Given the description of an element on the screen output the (x, y) to click on. 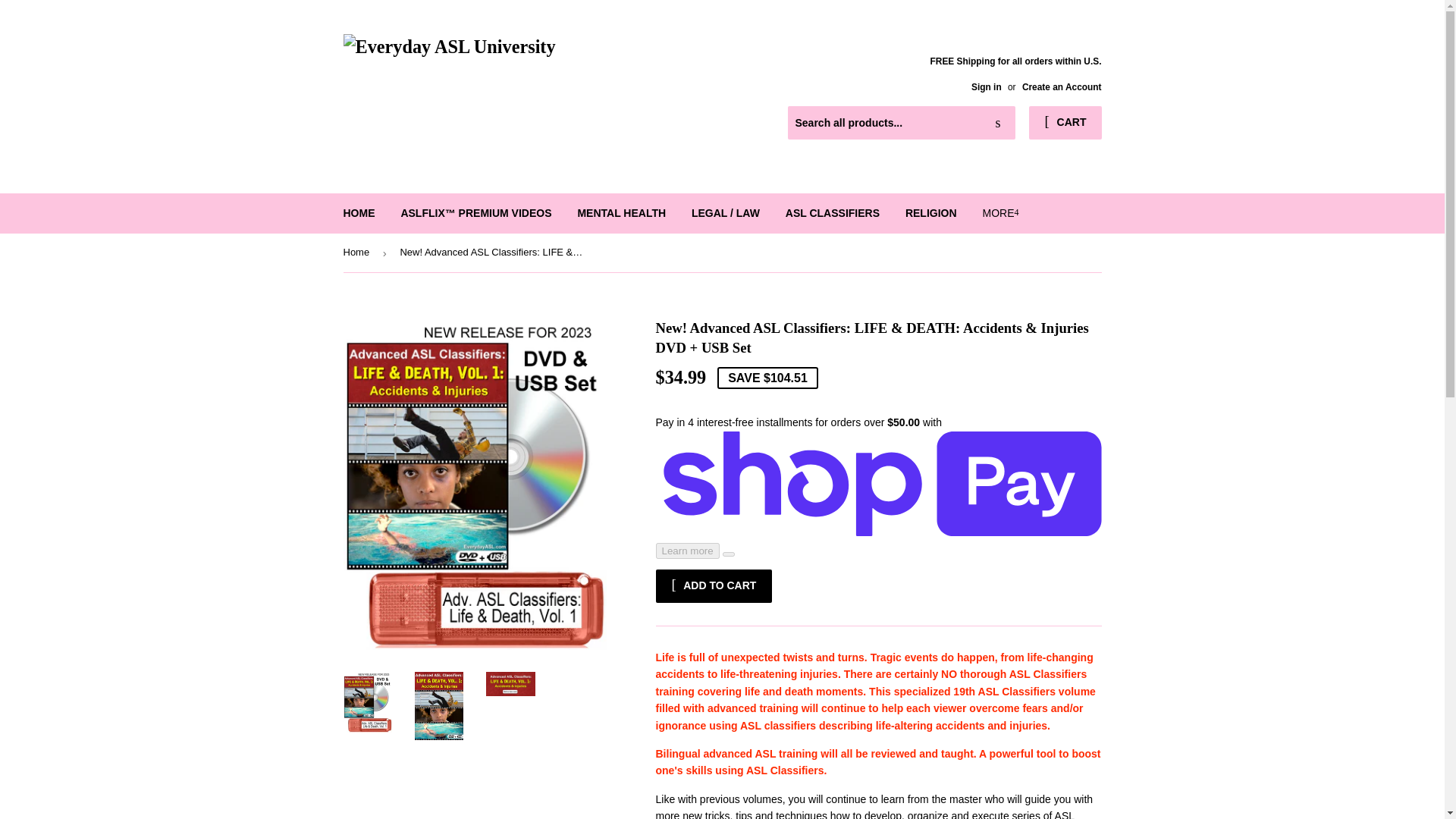
Back to the frontpage (358, 252)
MORE (1000, 212)
HOME (359, 212)
ASL CLASSIFIERS (832, 212)
RELIGION (930, 212)
FREE Shipping for all orders within U.S. (1016, 73)
MENTAL HEALTH (621, 212)
Sign in (986, 86)
CART (1064, 122)
Create an Account (1062, 86)
Search (997, 123)
